Given the description of an element on the screen output the (x, y) to click on. 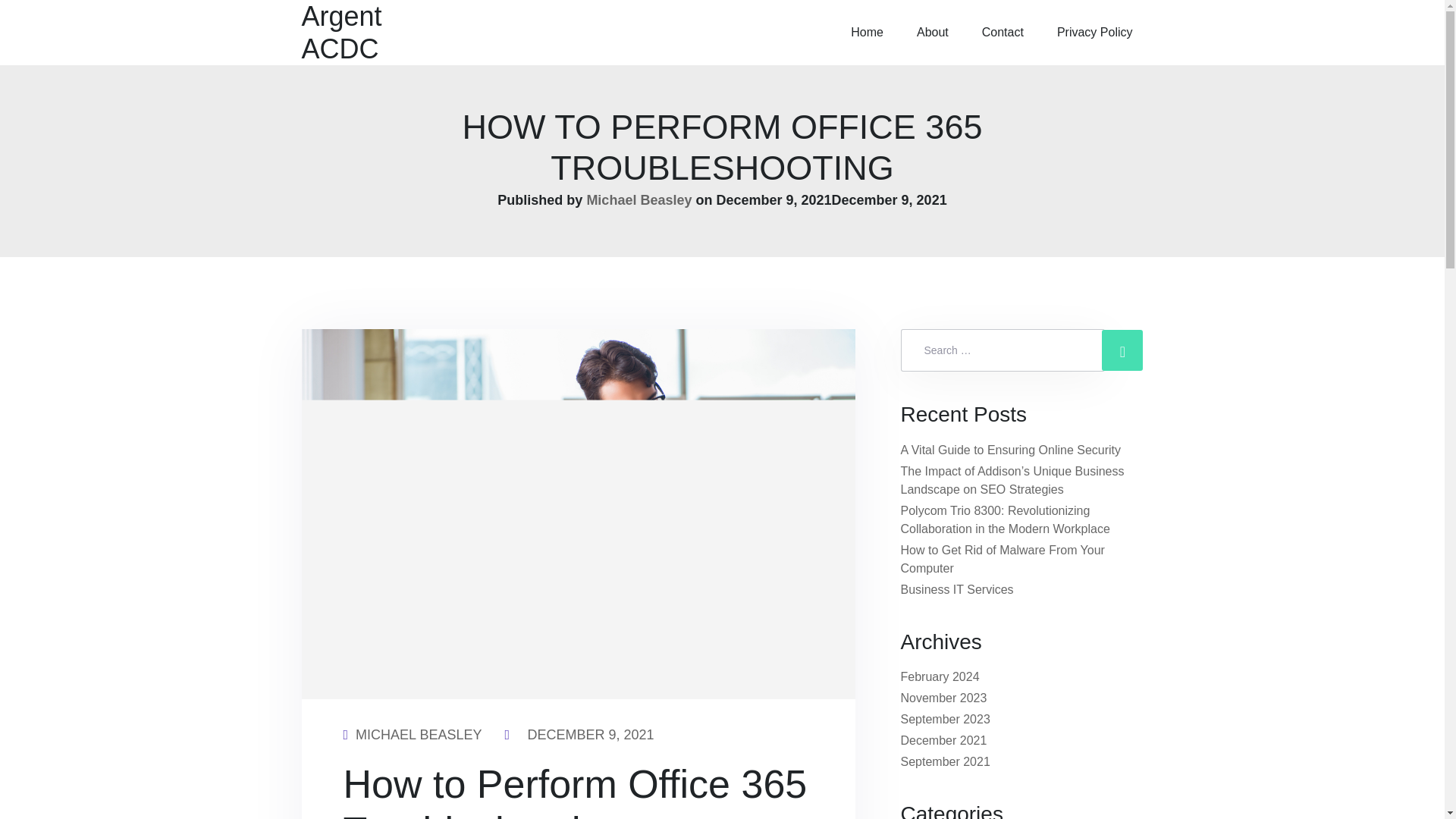
How to Get Rid of Malware From Your Computer (1003, 558)
December 2021 (944, 739)
September 2023 (945, 718)
Privacy Policy (1099, 32)
Business IT Services (957, 589)
Search for: (1003, 350)
February 2024 (940, 676)
DECEMBER 9, 2021 (590, 734)
September 2021 (945, 761)
Argent ACDC (362, 32)
November 2023 (944, 697)
A Vital Guide to Ensuring Online Security (1011, 449)
MICHAEL BEASLEY (418, 734)
Argent ACDC (362, 32)
